Given the description of an element on the screen output the (x, y) to click on. 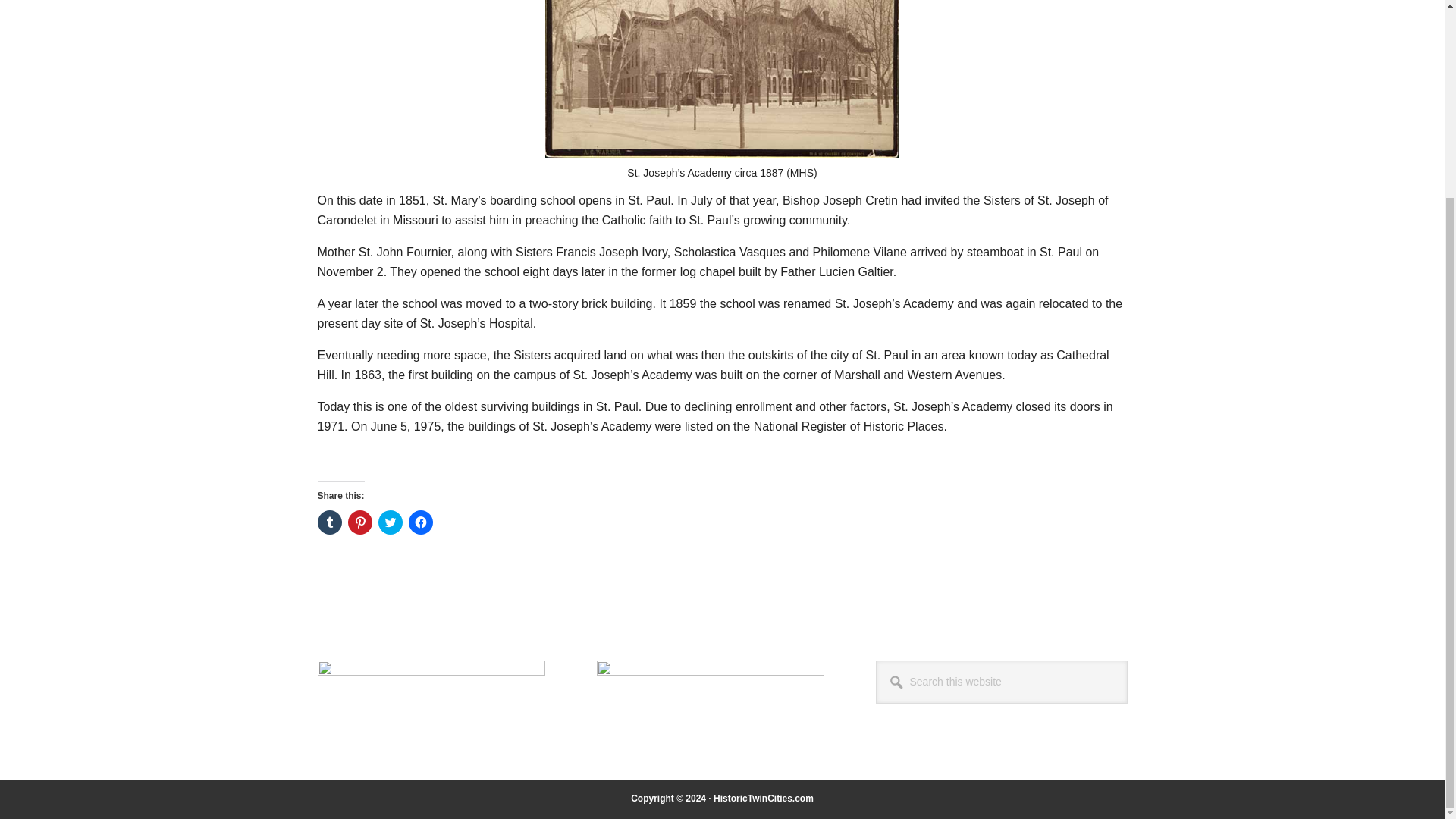
Click to share on Pinterest (359, 522)
Click to share on Twitter (389, 522)
Click to share on Tumblr (328, 522)
Click to share on Facebook (419, 522)
